Given the description of an element on the screen output the (x, y) to click on. 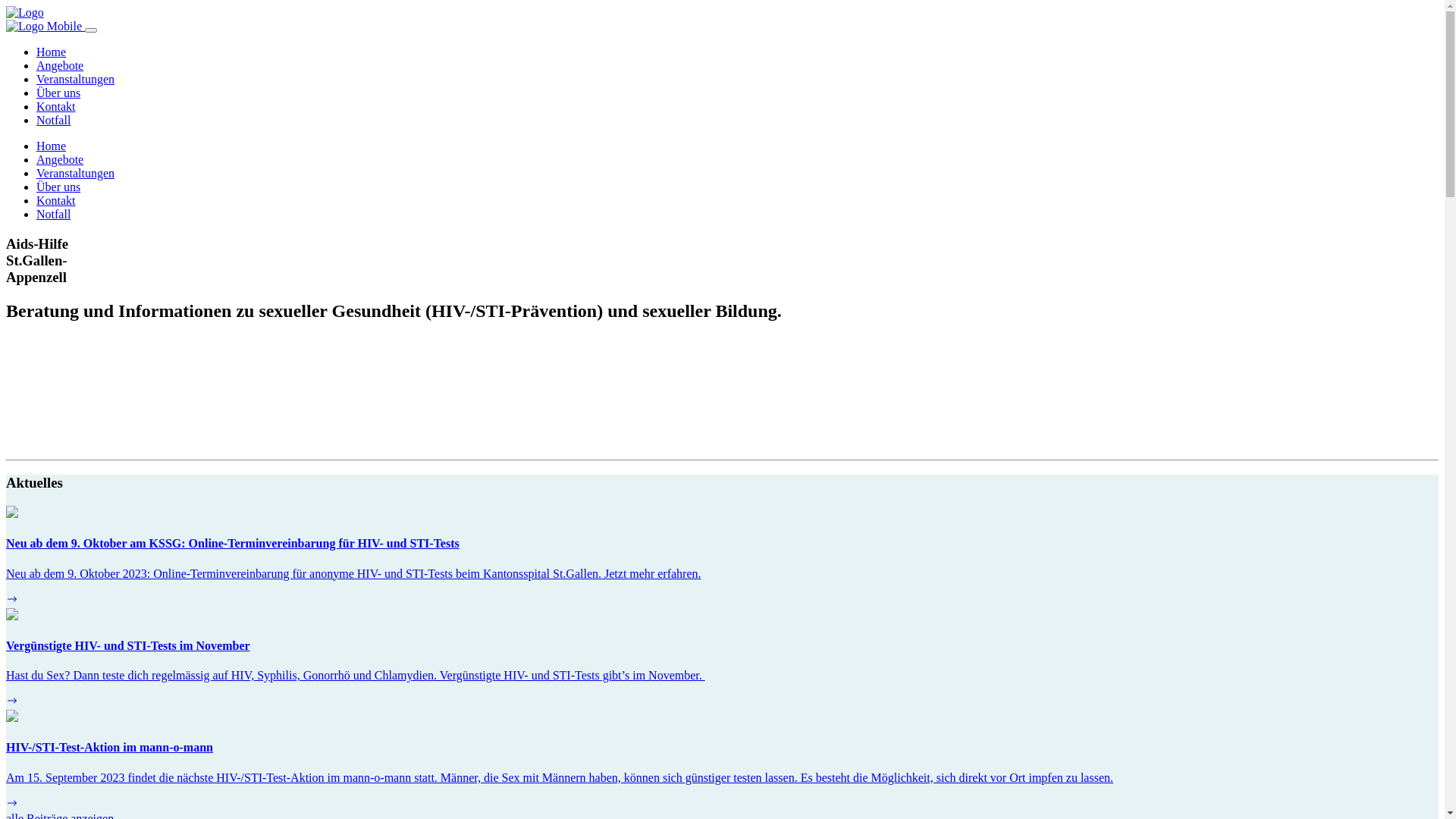
Angebote Element type: text (59, 159)
Veranstaltungen Element type: text (75, 172)
Veranstaltungen Element type: text (75, 78)
Kontakt Element type: text (55, 106)
Notfall Element type: text (53, 213)
Notfall Element type: text (53, 119)
Home Element type: text (50, 145)
Kontakt Element type: text (55, 200)
Angebote Element type: text (59, 65)
Home Element type: text (50, 51)
